Given the description of an element on the screen output the (x, y) to click on. 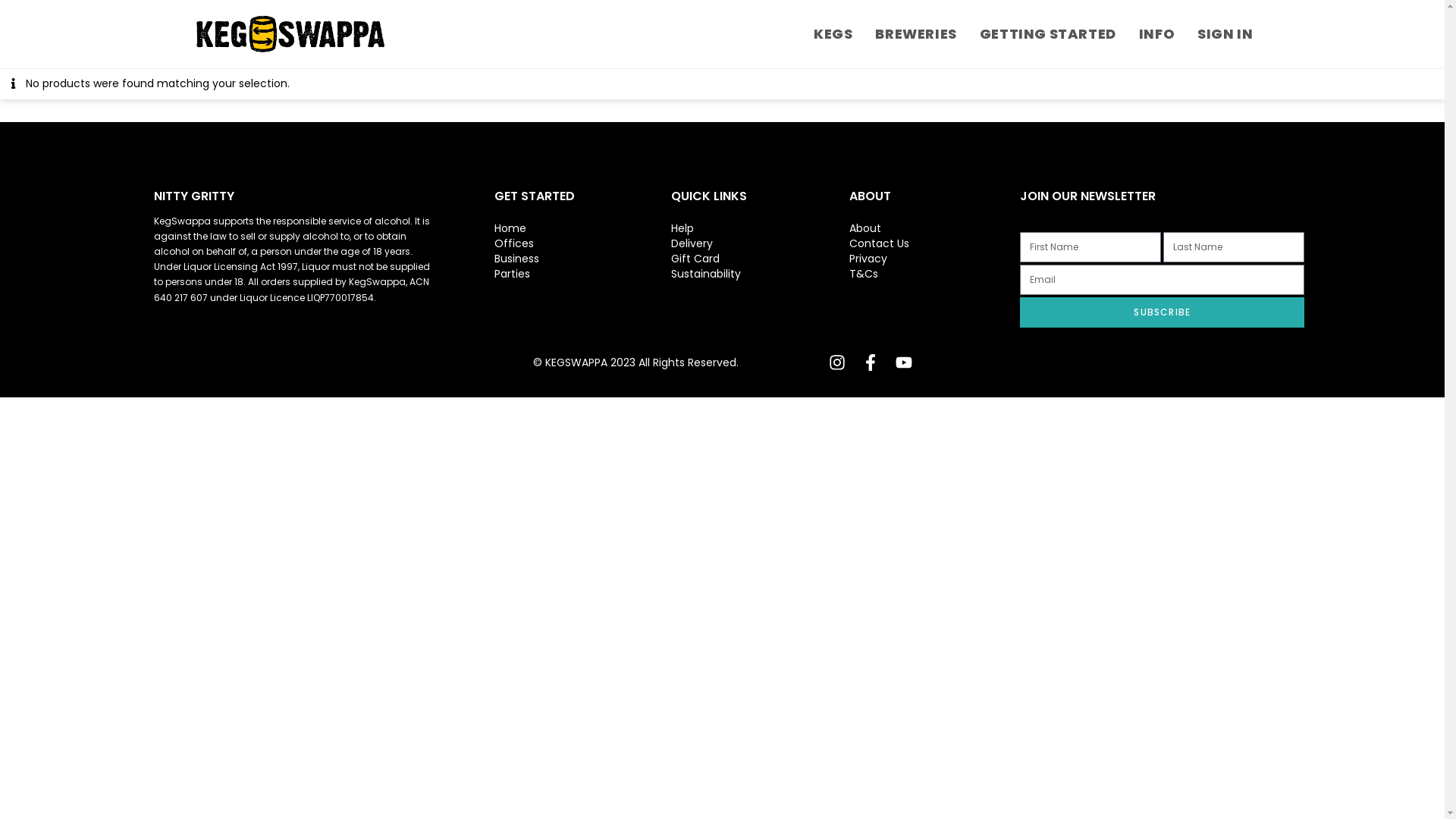
KEGS Element type: text (832, 34)
SUBSCRIBE Element type: text (1161, 312)
INFO Element type: text (1156, 34)
Contact Us Element type: text (934, 243)
Delivery Element type: text (760, 243)
Home Element type: text (582, 227)
Parties Element type: text (582, 273)
Privacy Element type: text (934, 258)
BREWERIES Element type: text (915, 34)
GETTING STARTED Element type: text (1047, 34)
About Element type: text (934, 227)
Help Element type: text (760, 227)
Offices Element type: text (582, 243)
T&Cs Element type: text (934, 273)
Business Element type: text (582, 258)
Gift Card Element type: text (760, 258)
SIGN IN Element type: text (1225, 34)
Sustainability Element type: text (760, 273)
